Given the description of an element on the screen output the (x, y) to click on. 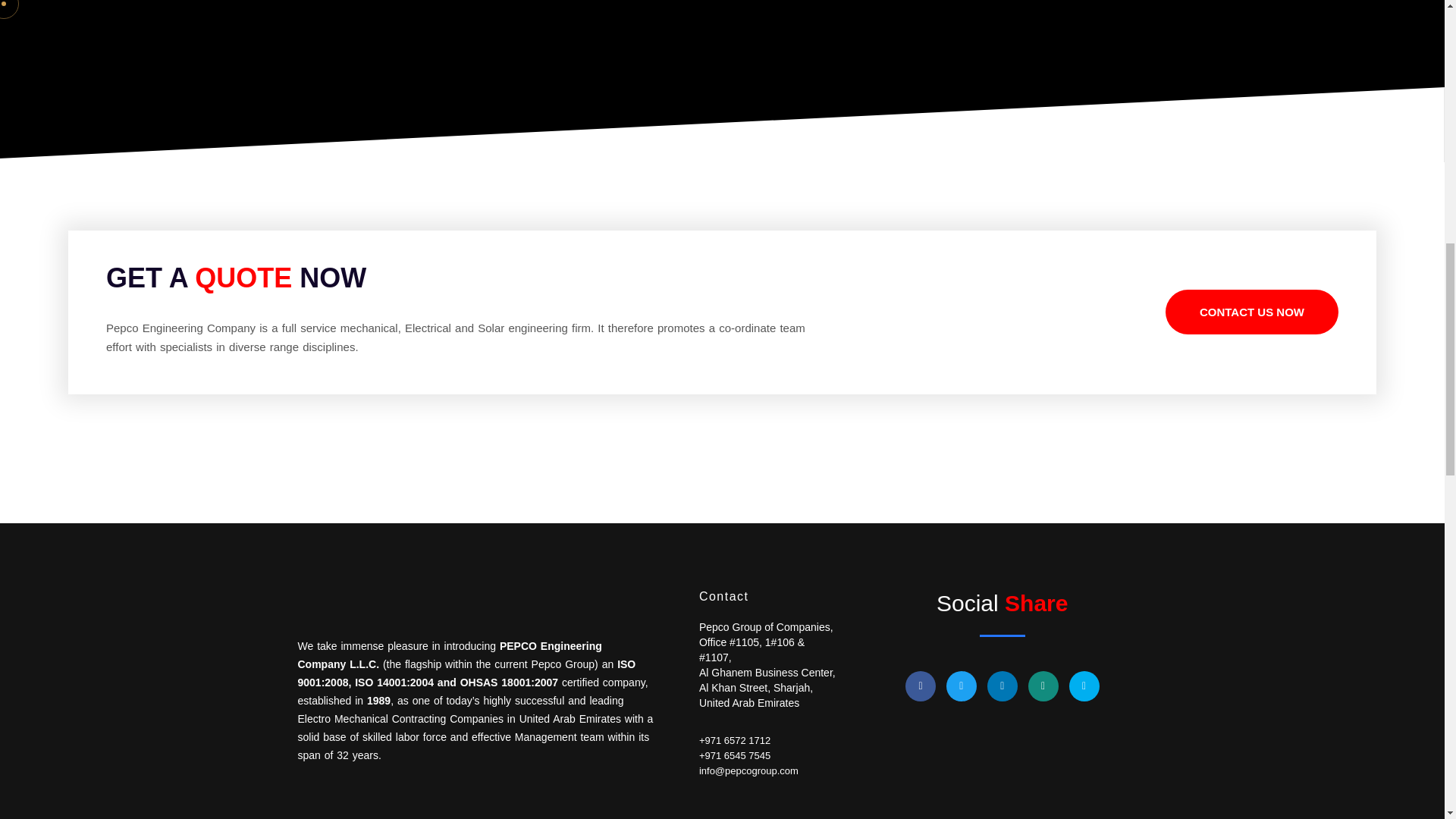
CONTACT US NOW (1252, 311)
